Given the description of an element on the screen output the (x, y) to click on. 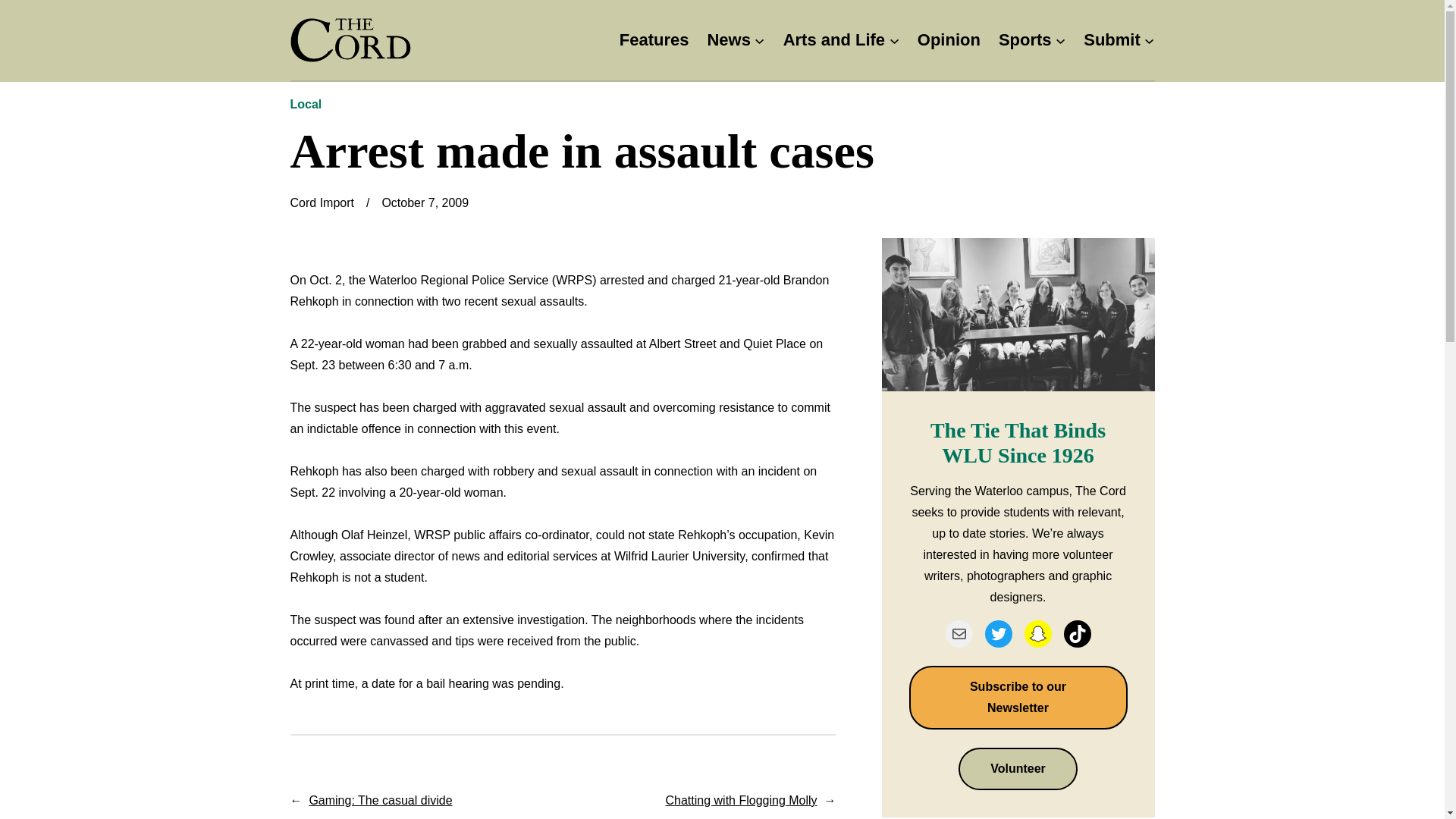
Snapchat (1037, 633)
Submit (1111, 40)
Twitter (997, 633)
Subscribe to our Newsletter (1017, 697)
Volunteer (1017, 768)
News (727, 40)
TikTok (1076, 633)
Features (654, 40)
Gaming: The casual divide (379, 799)
Sports (1024, 40)
Opinion (948, 40)
Local (305, 103)
Chatting with Flogging Molly (740, 799)
Mail (958, 633)
Arts and Life (834, 40)
